Given the description of an element on the screen output the (x, y) to click on. 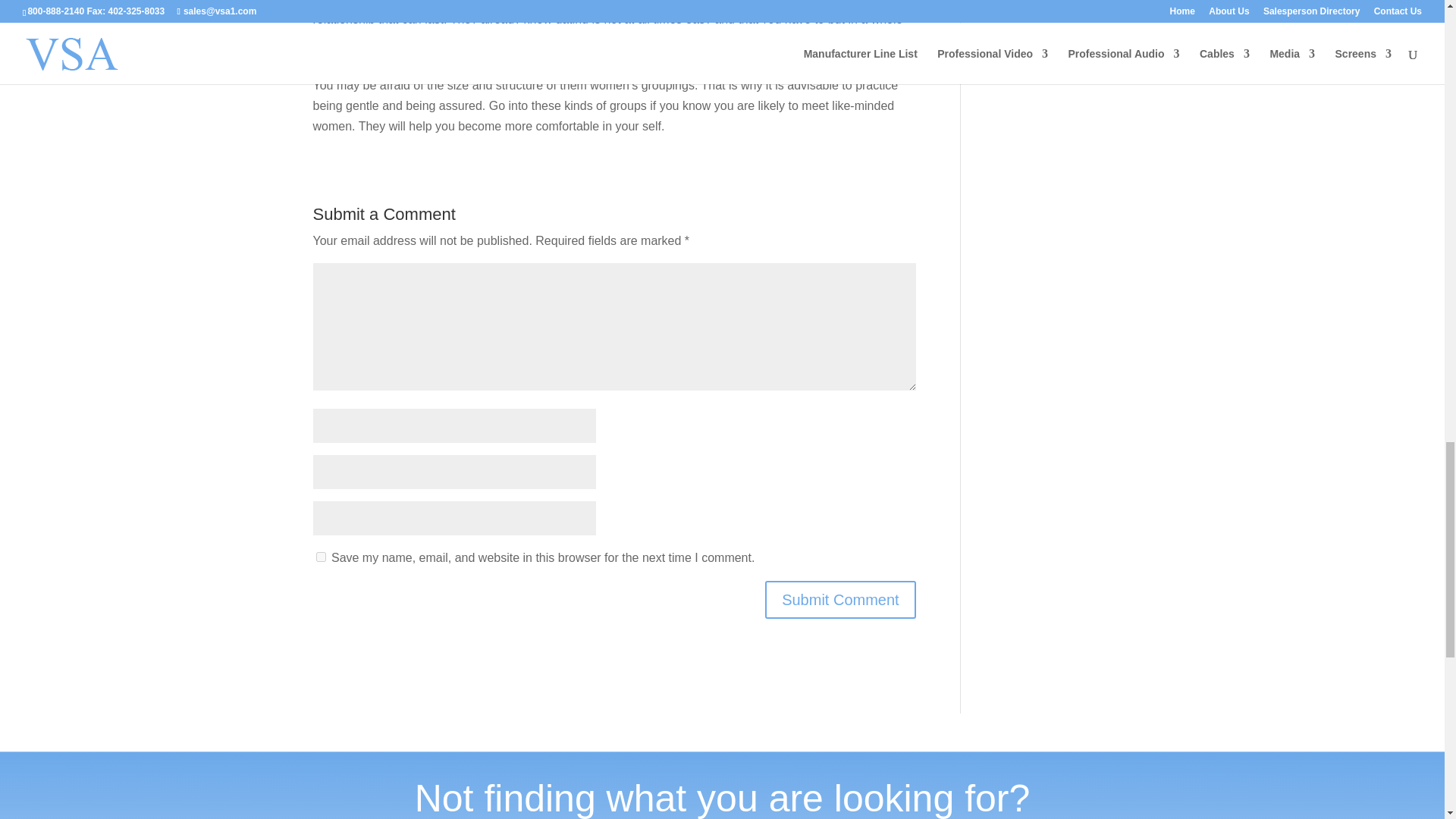
yes (319, 556)
Submit Comment (840, 599)
